Given the description of an element on the screen output the (x, y) to click on. 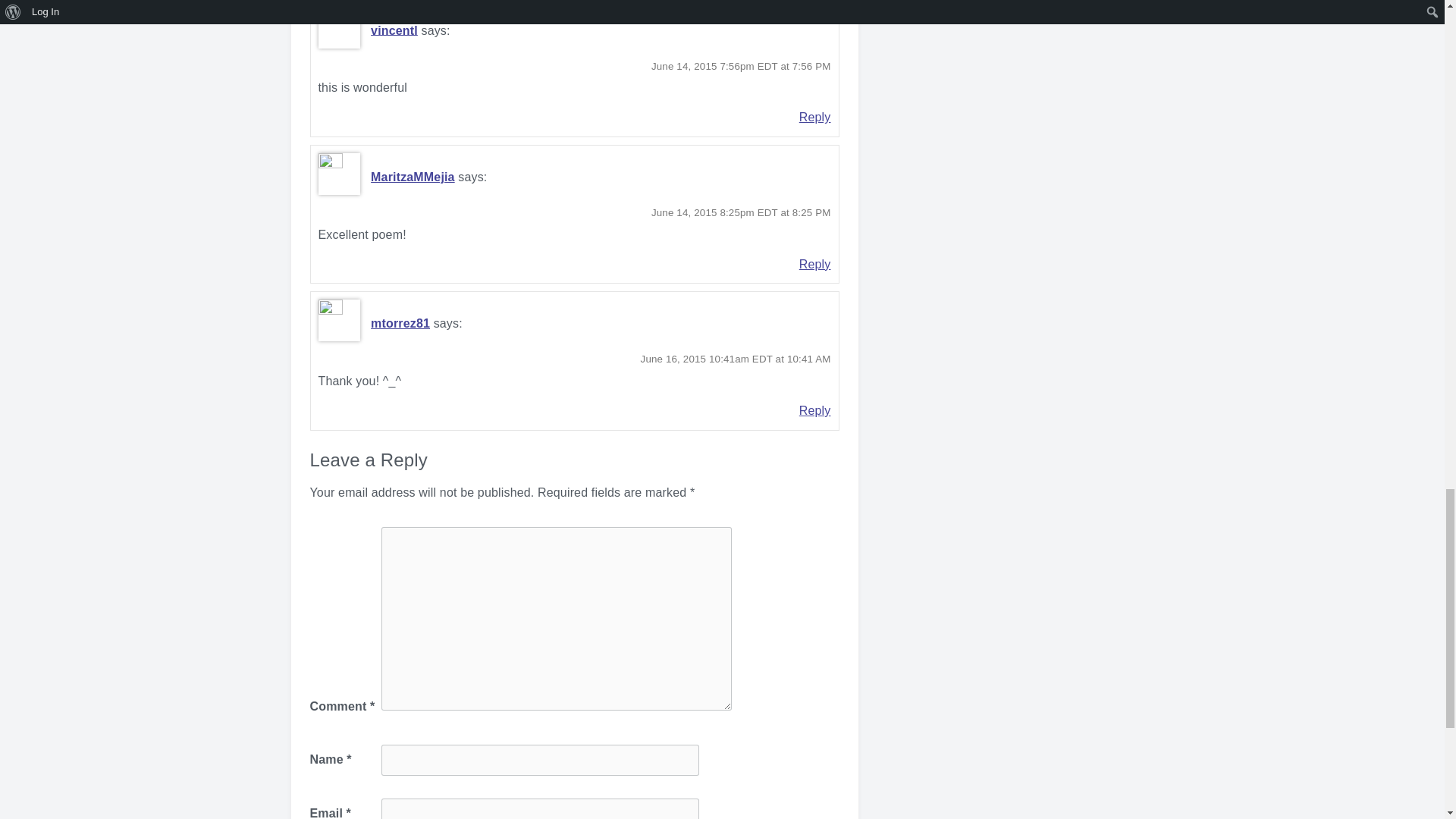
vincentl (394, 29)
Reply (815, 410)
Reply (815, 264)
June 14, 2015 8:25pm EDT at 8:25 PM (740, 212)
mtorrez81 (400, 323)
Reply (815, 116)
MaritzaMMejia (412, 176)
June 16, 2015 10:41am EDT at 10:41 AM (735, 358)
June 14, 2015 7:56pm EDT at 7:56 PM (740, 66)
